Given the description of an element on the screen output the (x, y) to click on. 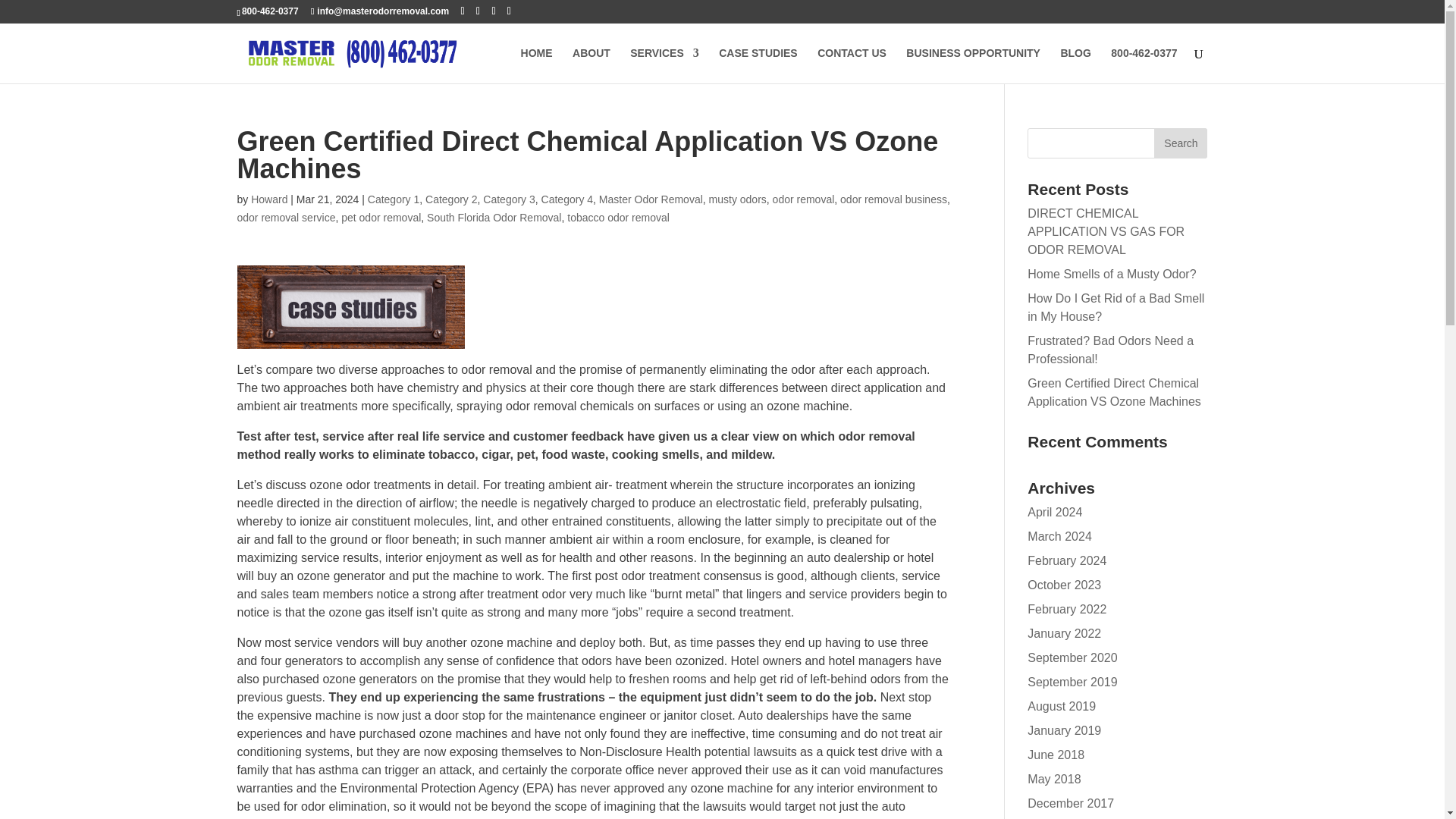
odor removal (803, 199)
800-462-0377 (1143, 65)
Search (1180, 142)
tobacco odor removal (618, 217)
SERVICES (664, 65)
Category 2 (451, 199)
ABOUT (591, 65)
Posts by Howard (268, 199)
Search (1180, 142)
CASE STUDIES (757, 65)
